Given the description of an element on the screen output the (x, y) to click on. 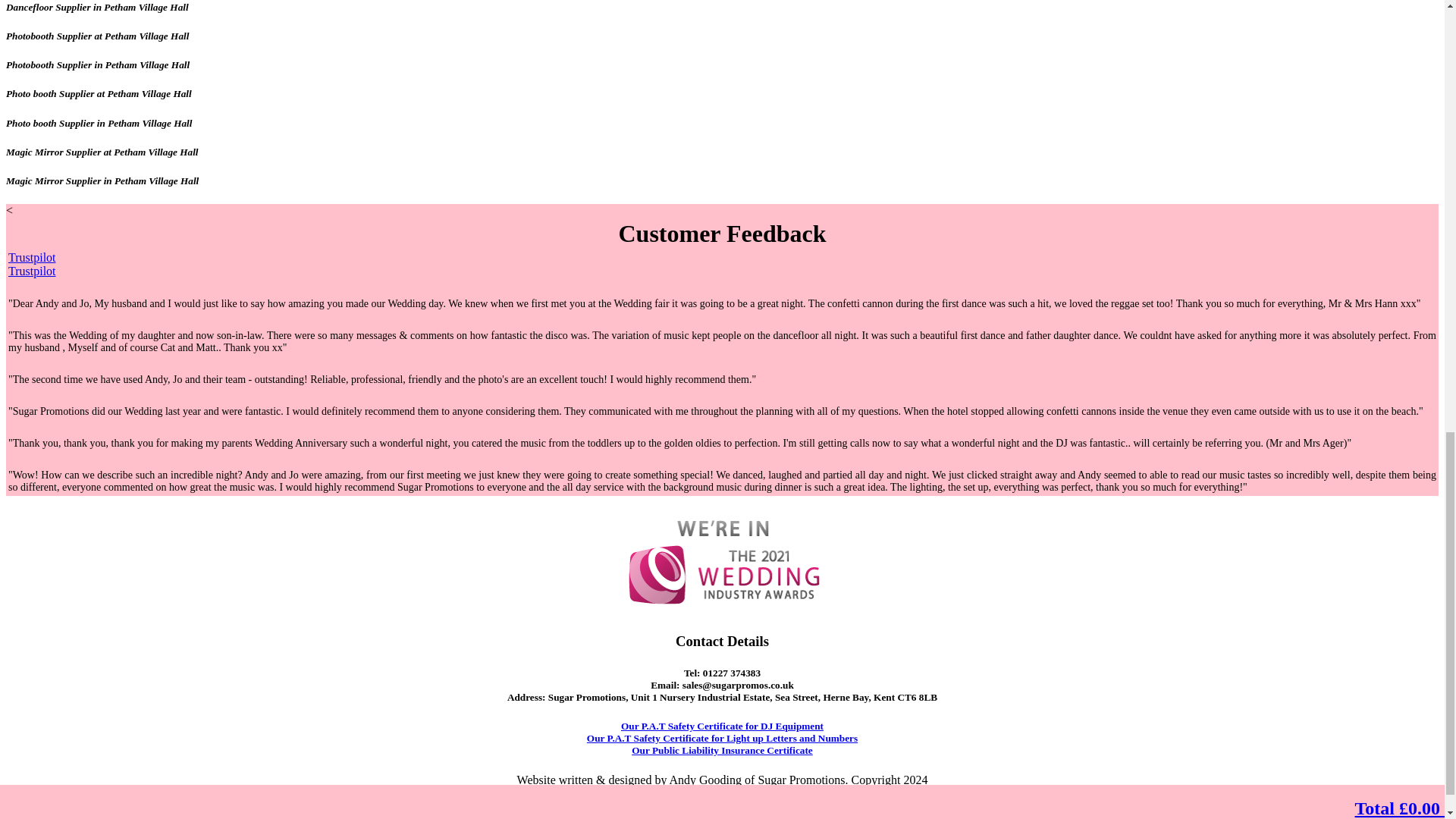
Trustpilot (32, 256)
Our P.A.T Safety Certificate for DJ Equipment (722, 726)
Trustpilot (32, 270)
Our Public Liability Insurance Certificate (721, 749)
